Given the description of an element on the screen output the (x, y) to click on. 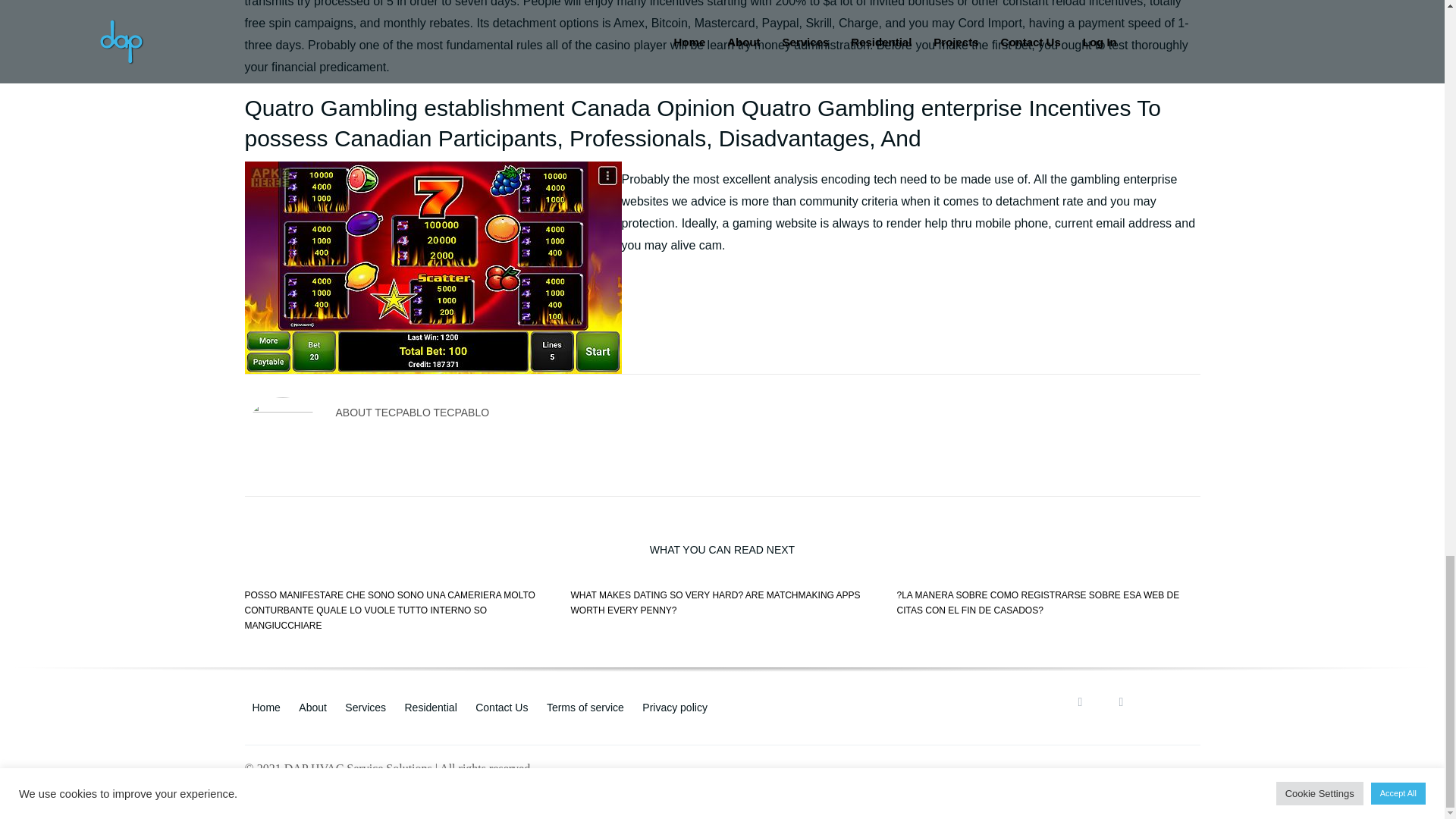
Terms of service (585, 707)
Privacy policy (674, 707)
About (312, 707)
Contact Us (501, 707)
Home (265, 707)
Residential (430, 707)
Services (365, 707)
